Given the description of an element on the screen output the (x, y) to click on. 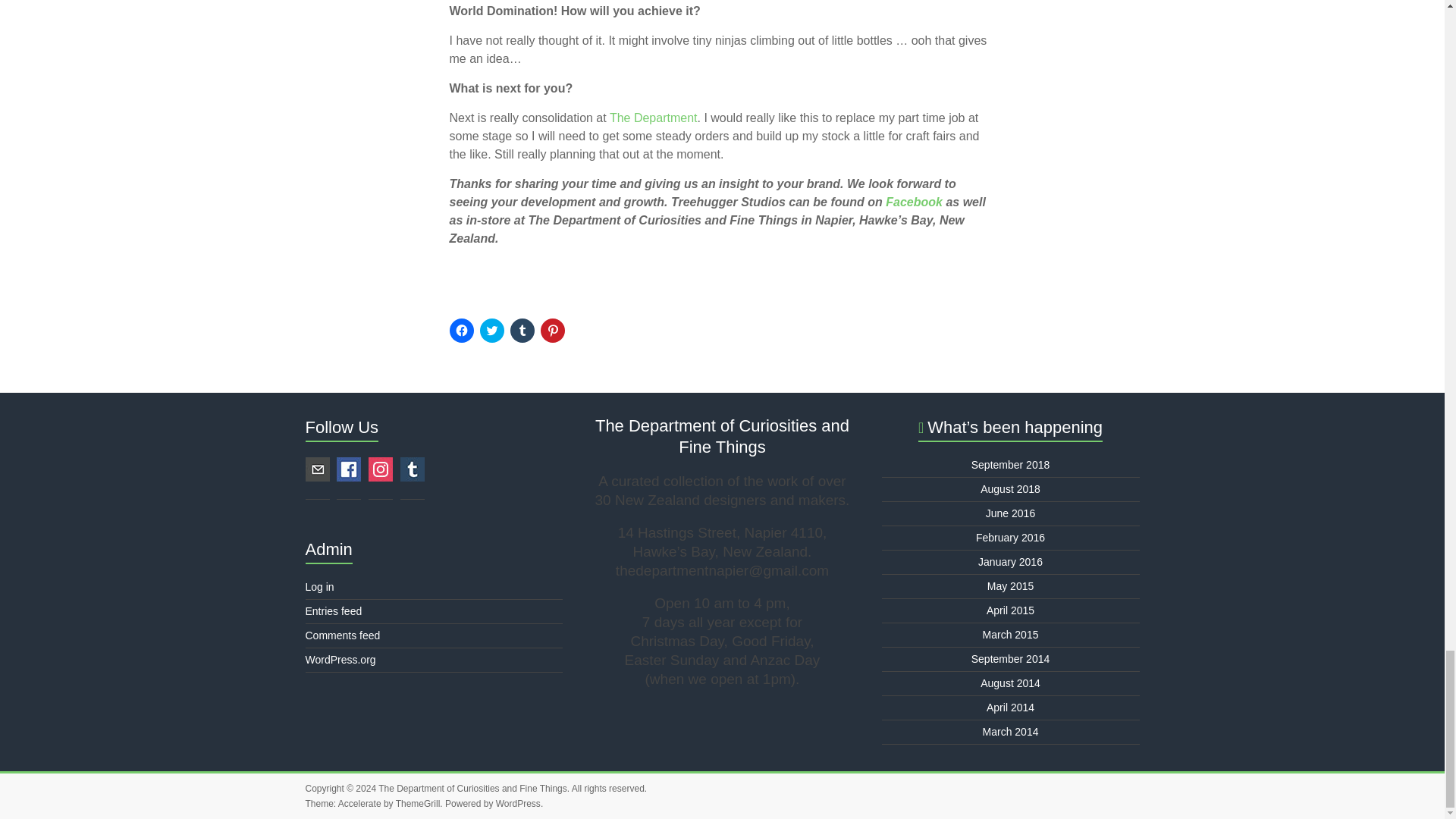
Entries feed (332, 611)
Click to share on Twitter (491, 330)
Log in (318, 586)
Instagram (380, 469)
Email (316, 469)
Facebook (348, 469)
The Department on Facebook (653, 117)
The Department (653, 117)
Click to share on Facebook (460, 330)
Facebook (913, 201)
Click to share on Pinterest (552, 330)
Click to share on Tumblr (521, 330)
